Given the description of an element on the screen output the (x, y) to click on. 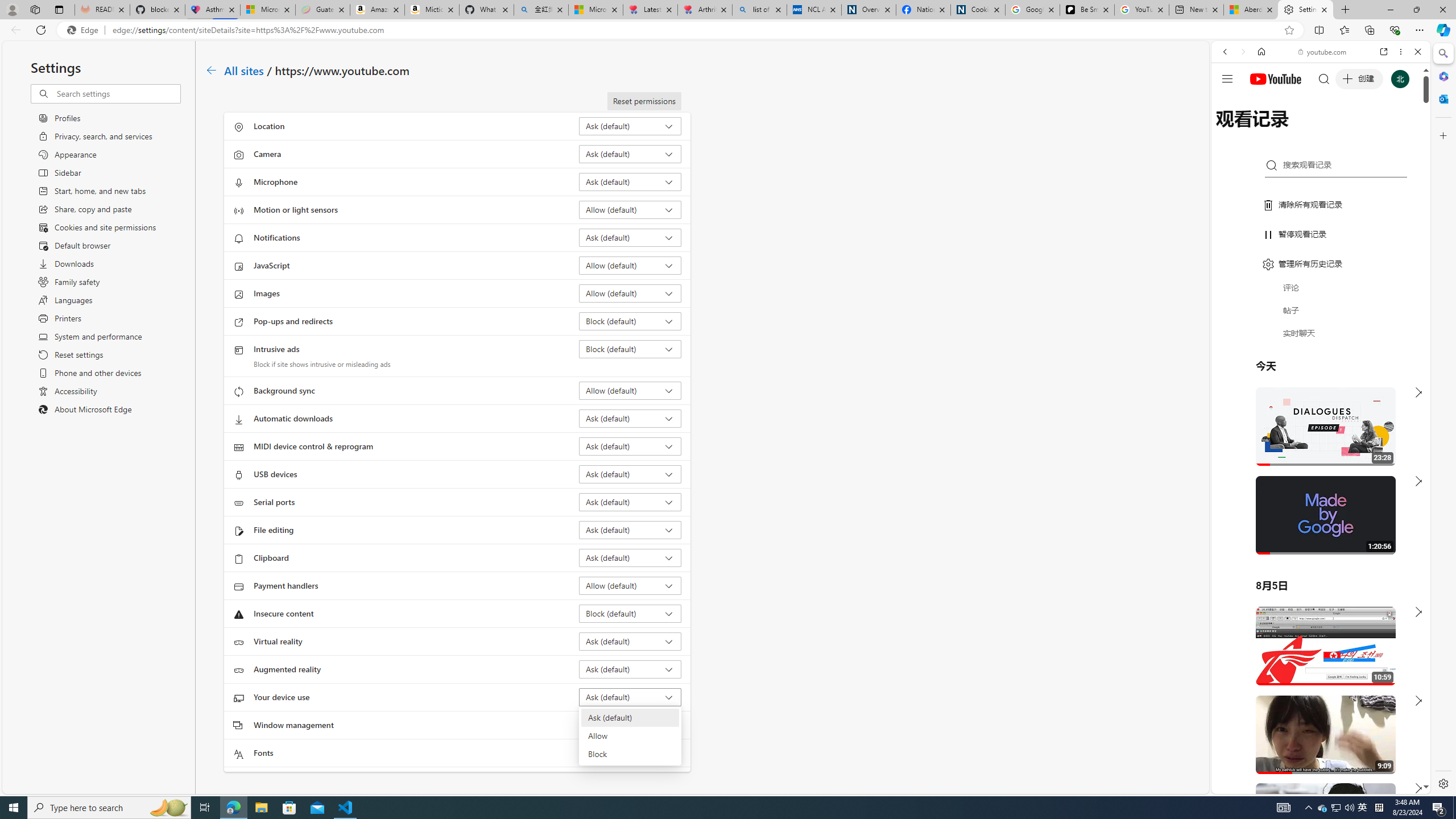
Go back to All sites page. (210, 70)
Images Allow (default) (630, 293)
Class: c01162 (210, 70)
Your device use Ask (default) (630, 696)
Intrusive ads Block (default) (630, 348)
Microphone Ask (default) (630, 181)
